Given the description of an element on the screen output the (x, y) to click on. 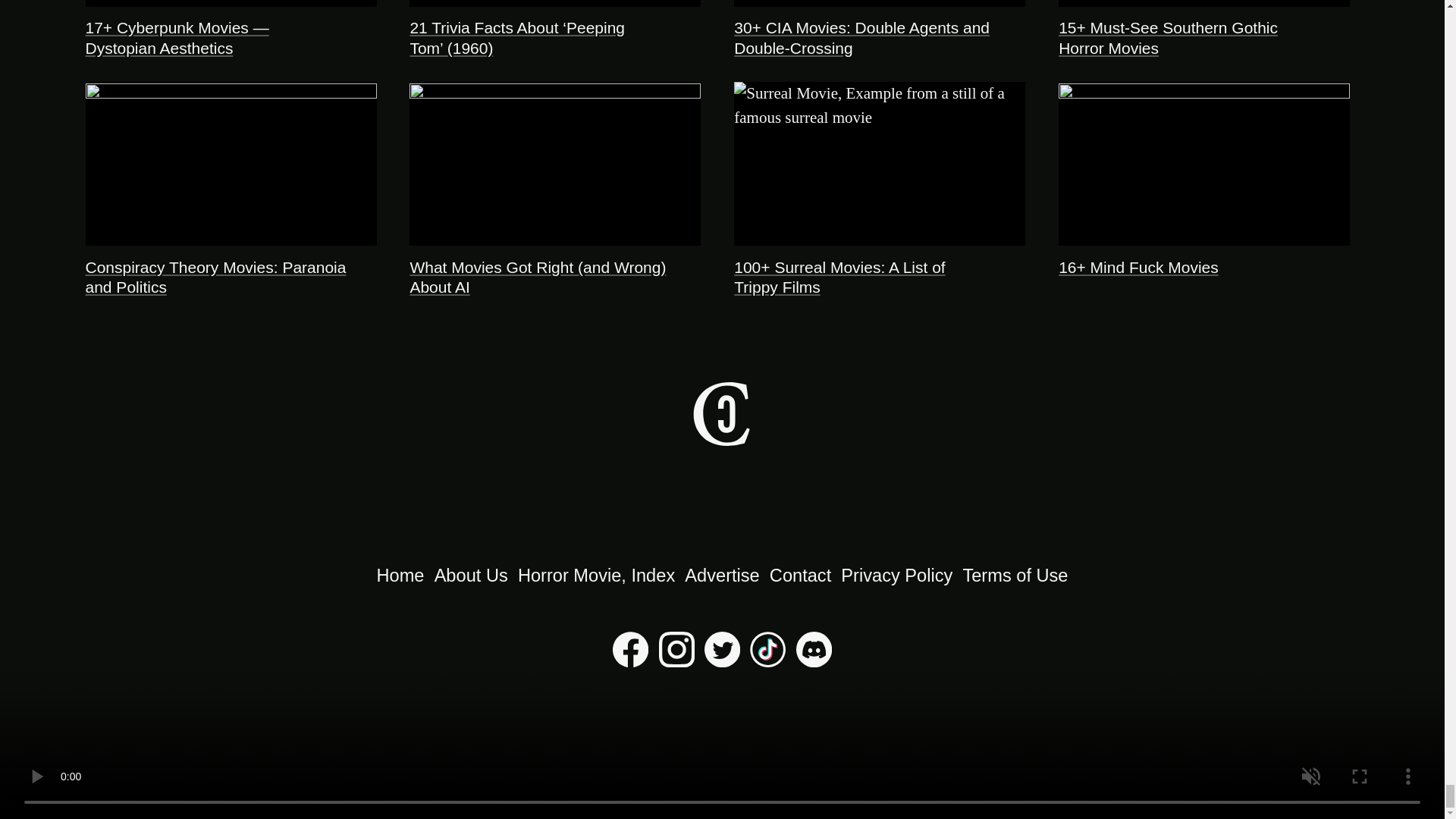
Facebook (629, 660)
Twitter (721, 660)
Discord (813, 660)
TikTok (767, 660)
Instagram (676, 660)
